Given the description of an element on the screen output the (x, y) to click on. 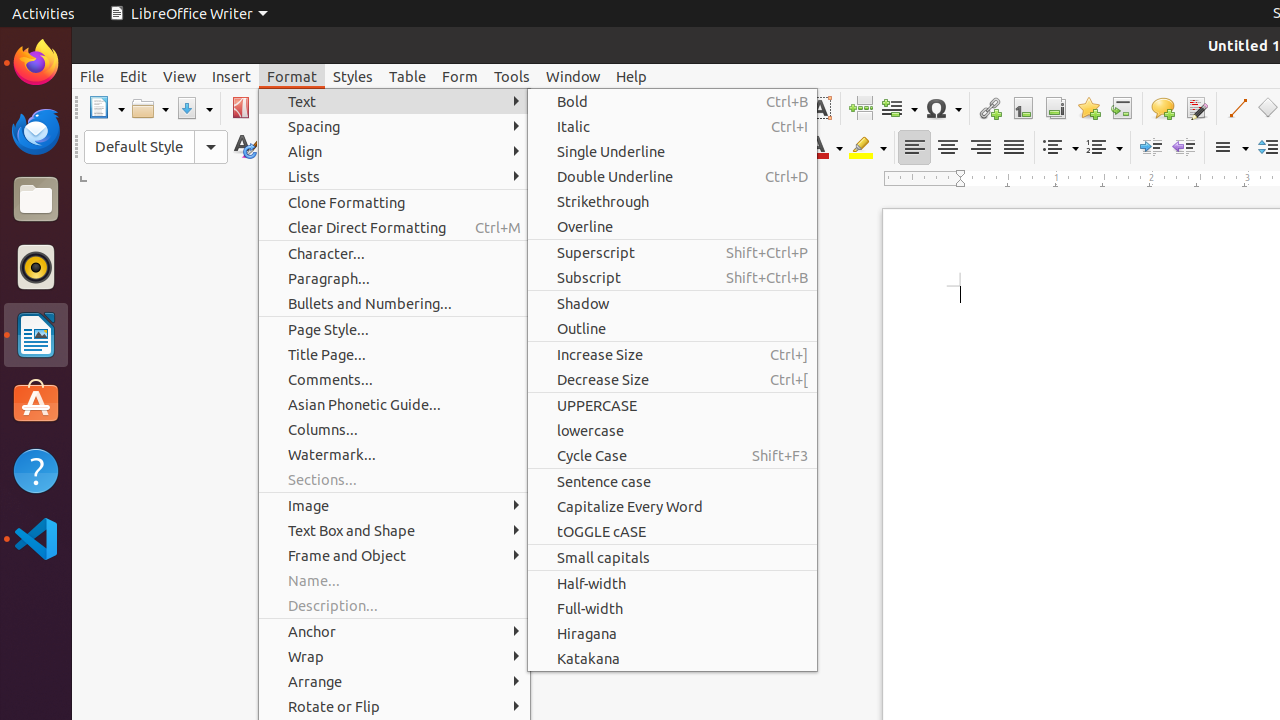
Sections... Element type: menu-item (394, 479)
Clear Direct Formatting Element type: menu-item (394, 227)
Hiragana Element type: menu-item (672, 633)
Anchor Element type: menu (394, 631)
Open Element type: push-button (150, 108)
